Given the description of an element on the screen output the (x, y) to click on. 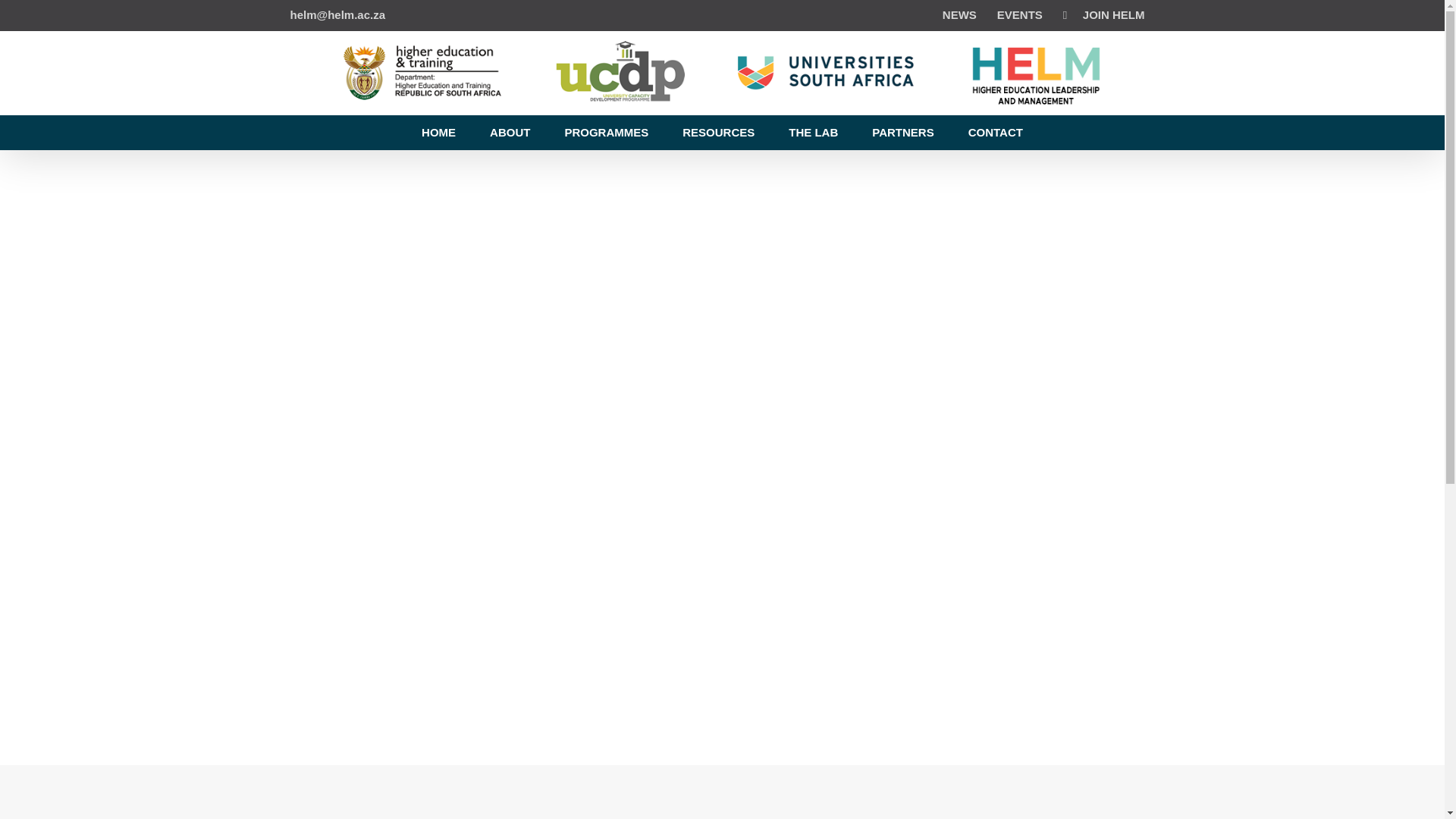
Page (718, 132)
NEWS (960, 15)
JOIN HELM (1103, 15)
HOME (438, 132)
PROGRAMMES (605, 132)
RESOURCES (718, 132)
ABOUT (509, 132)
EVENTS (1019, 15)
THE LAB (813, 132)
CONTACT (995, 132)
